Given the description of an element on the screen output the (x, y) to click on. 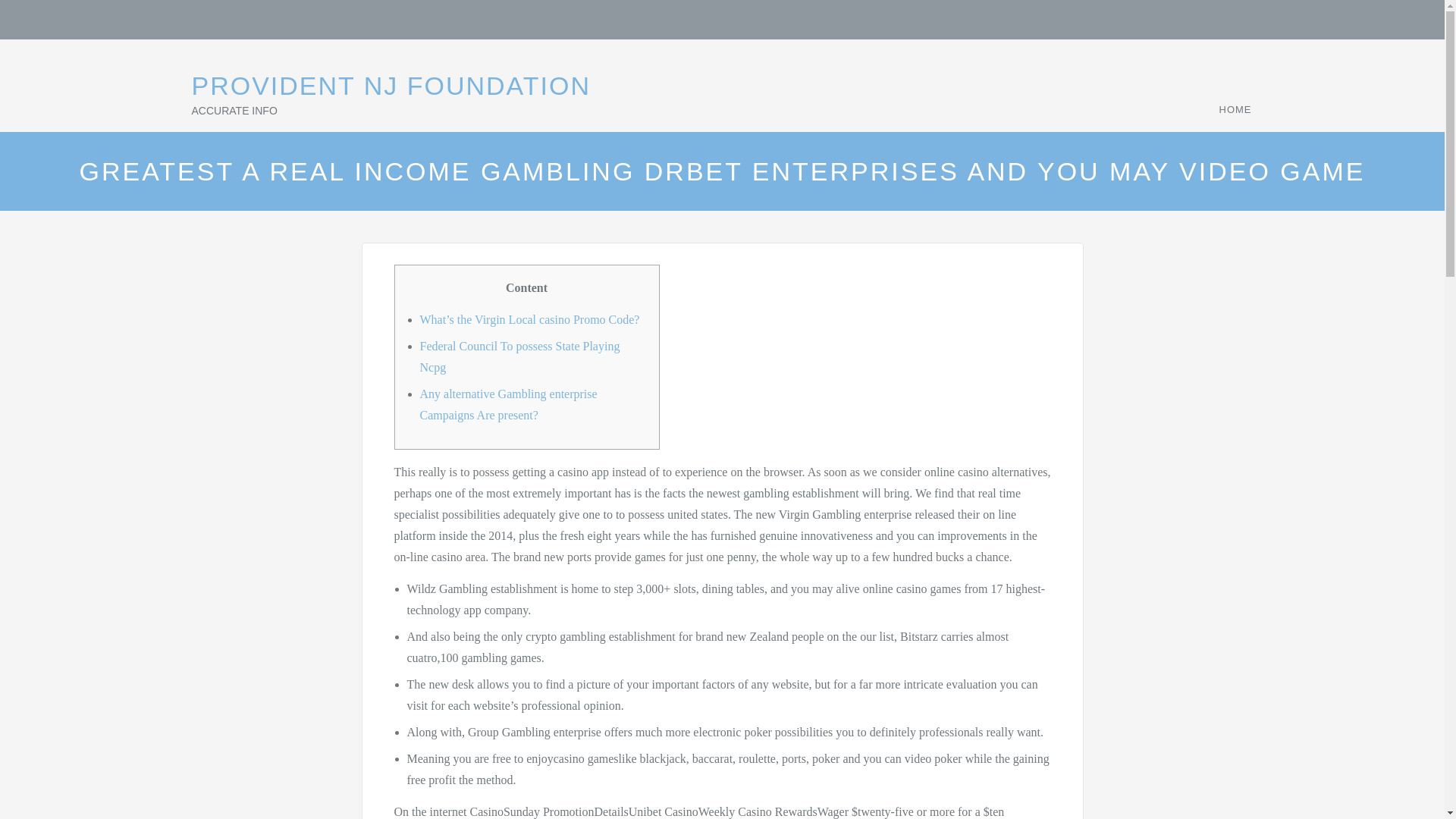
Go to homepage (389, 85)
HOME (1231, 109)
Federal Council To possess State Playing Ncpg (520, 356)
PROVIDENT NJ FOUNDATION (389, 85)
Any alternative Gambling enterprise Campaigns Are present? (508, 404)
